Given the description of an element on the screen output the (x, y) to click on. 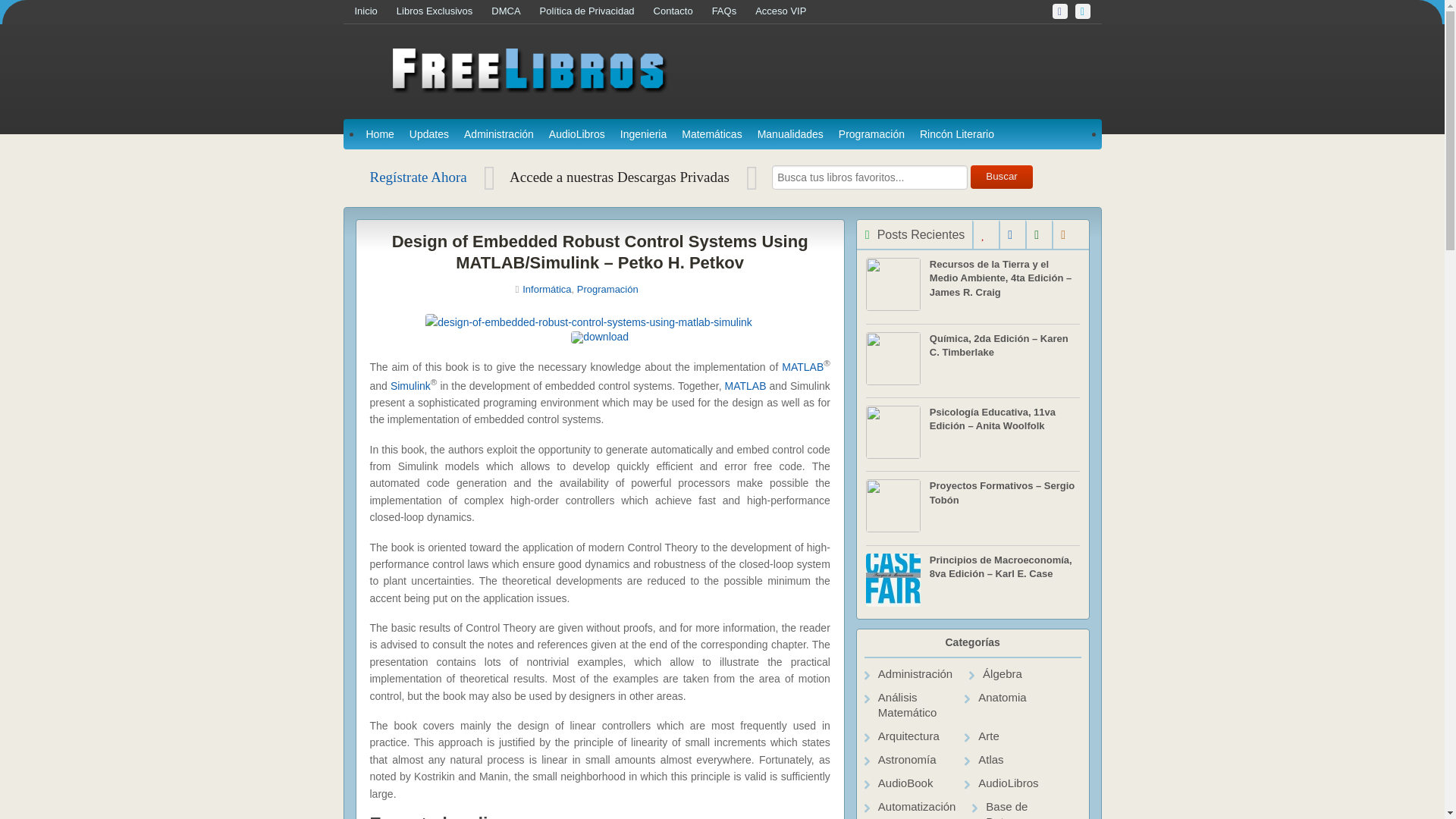
Buscar (1002, 177)
FAQs (733, 11)
Manualidades (790, 133)
Updates (429, 133)
Simulink (410, 385)
Inicio (375, 11)
FreeLibros (526, 89)
DMCA (515, 11)
AudioLibros (576, 133)
Contacto (682, 11)
Buscar (1002, 177)
MATLAB (746, 385)
Home (379, 133)
Acceso VIP (790, 11)
MATLAB (802, 366)
